Given the description of an element on the screen output the (x, y) to click on. 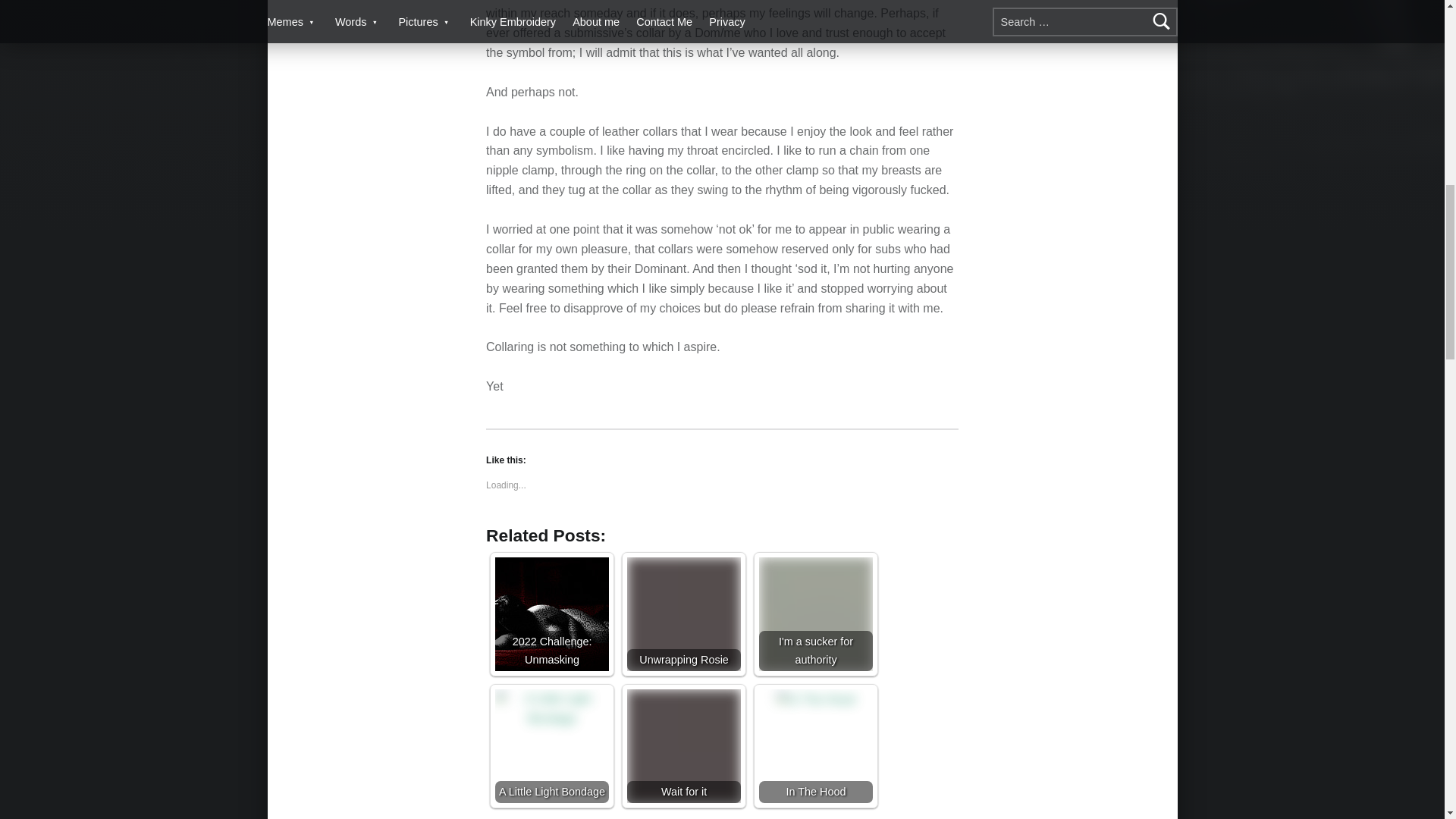
I'm a sucker for authority (815, 613)
In The Hood (816, 700)
2022 Challenge: Unmasking (551, 613)
I'm a sucker for authority (815, 613)
A Little Light Bondage (551, 708)
Wait for it (684, 746)
Unwrapping Rosie (684, 613)
Unwrapping Rosie (684, 613)
2022 Challenge: Unmasking (551, 613)
A Little Light Bondage (551, 746)
